Given the description of an element on the screen output the (x, y) to click on. 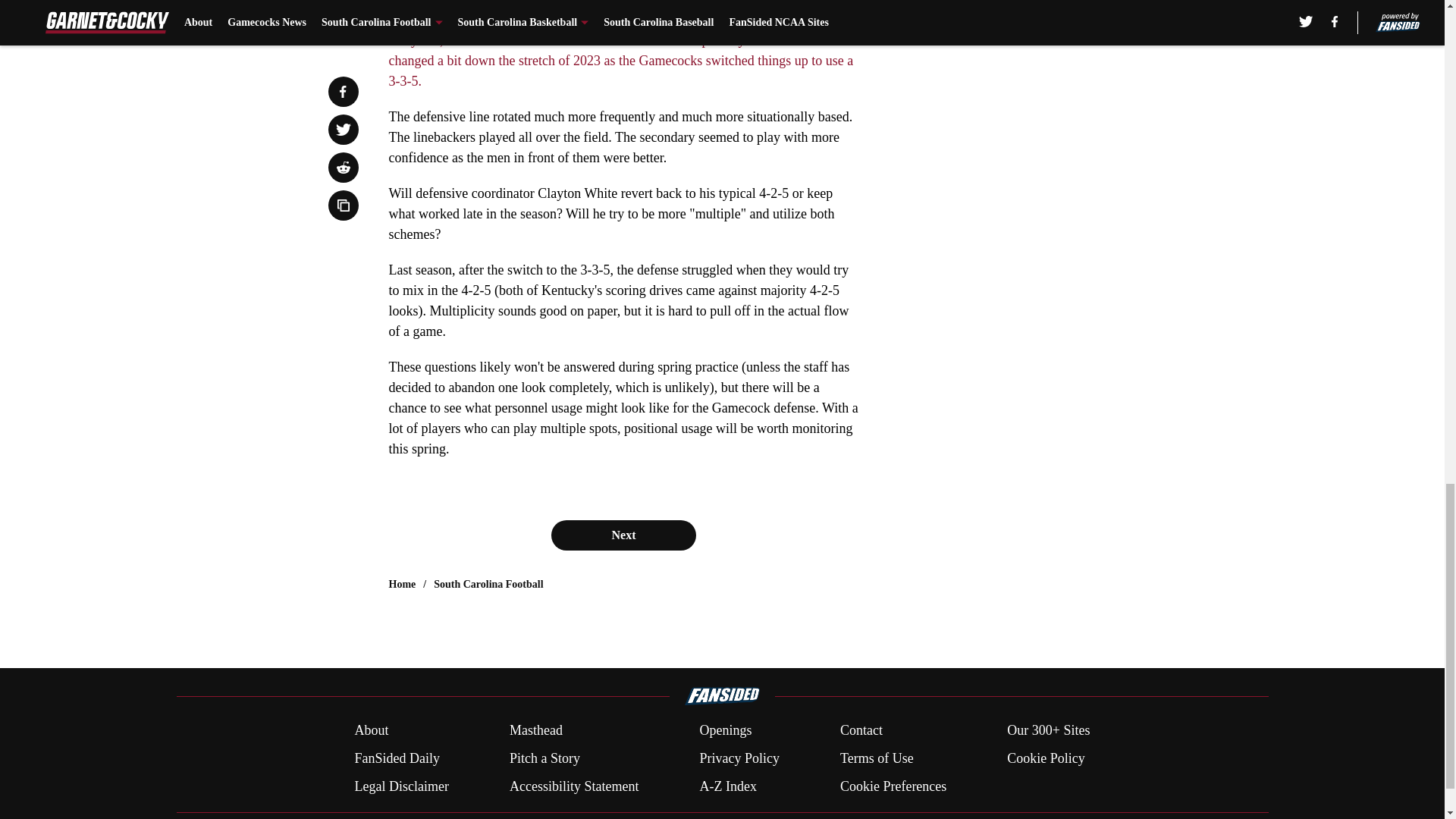
Terms of Use (877, 758)
Masthead (535, 730)
Pitch a Story (544, 758)
Next (622, 535)
Openings (724, 730)
Privacy Policy (738, 758)
Contact (861, 730)
Legal Disclaimer (400, 786)
FanSided Daily (396, 758)
South Carolina Football (488, 584)
Cookie Policy (1045, 758)
About (370, 730)
Home (401, 584)
